Given the description of an element on the screen output the (x, y) to click on. 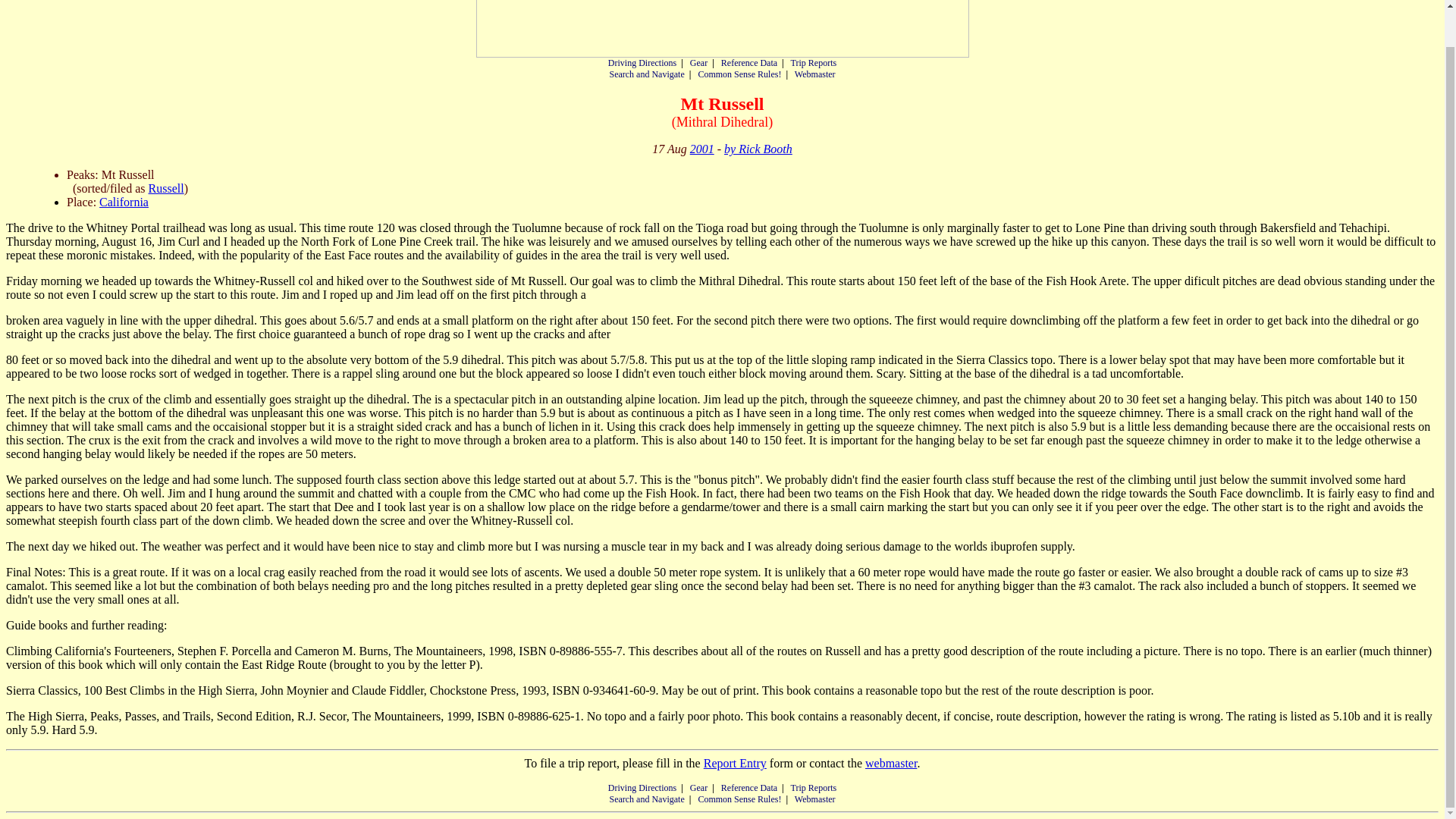
Common Sense Rules! (738, 798)
by Rick Booth (757, 148)
Reference Data (748, 62)
Driving Directions (642, 62)
Report Entry (735, 762)
Common Sense Rules! (738, 73)
Russell (166, 187)
Trip Reports (813, 62)
Search and Navigate (646, 798)
Search and Navigate (646, 73)
Webmaster (814, 798)
Gear (698, 787)
Webmaster (814, 73)
Reference Data (748, 787)
2001 (702, 148)
